Given the description of an element on the screen output the (x, y) to click on. 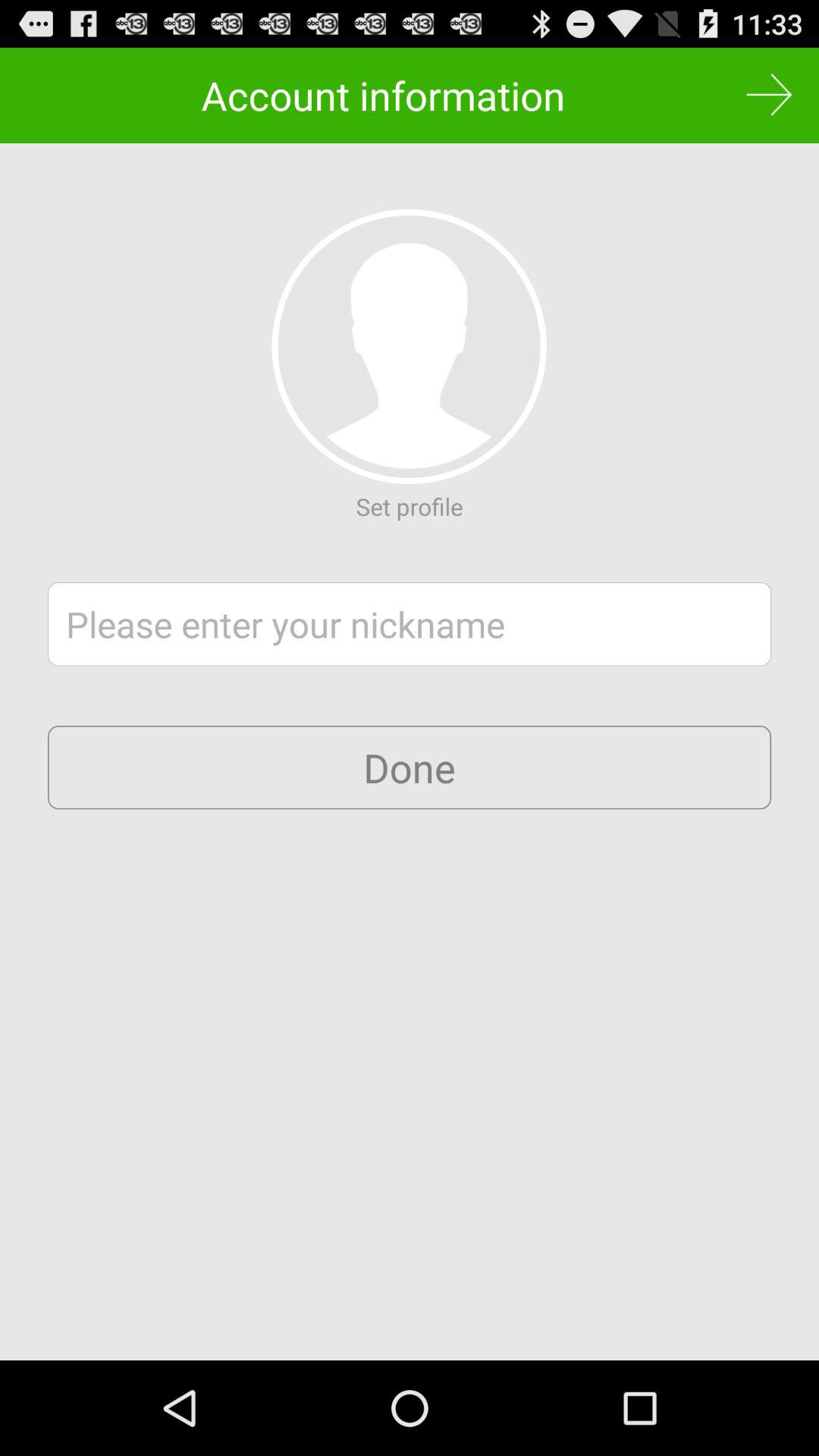
click item below account information (408, 346)
